Given the description of an element on the screen output the (x, y) to click on. 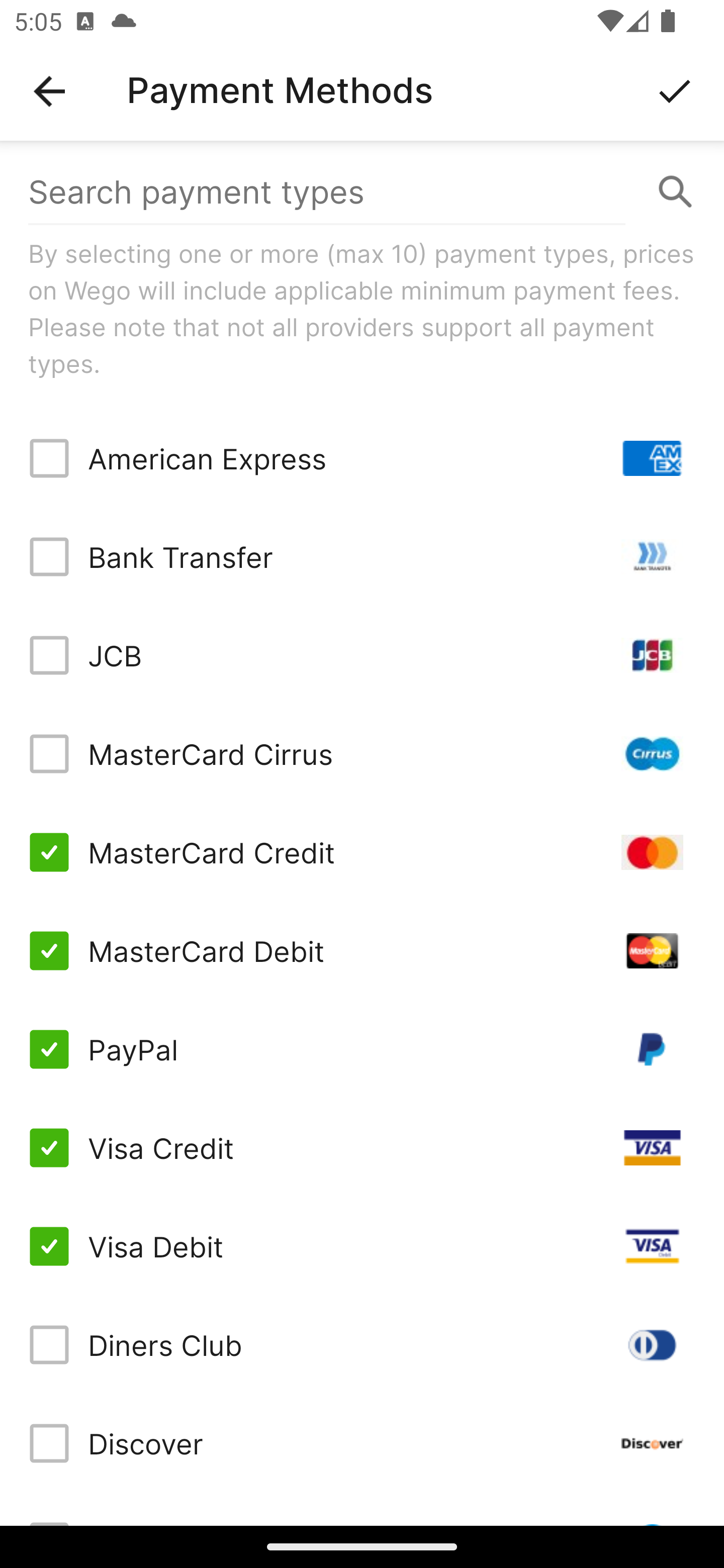
Search payment types  (361, 191)
American Express (362, 458)
Bank Transfer (362, 557)
JCB (362, 655)
MasterCard Cirrus (362, 753)
MasterCard Credit (362, 851)
MasterCard Debit (362, 950)
PayPal (362, 1049)
Visa Credit (362, 1147)
Visa Debit (362, 1245)
Diners Club (362, 1344)
Discover (362, 1442)
